Given the description of an element on the screen output the (x, y) to click on. 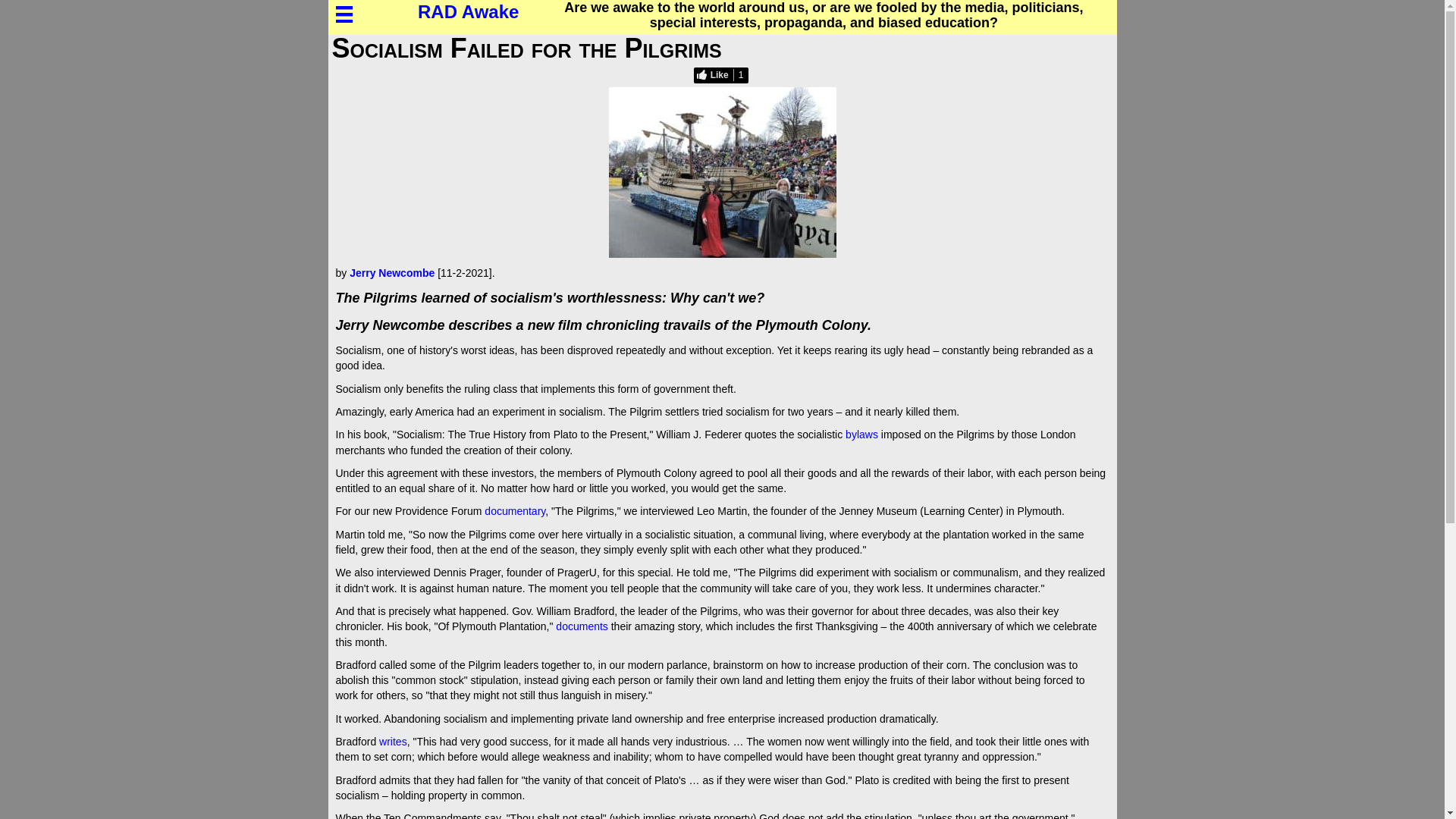
writes (392, 741)
bylaws (861, 434)
Jerry Newcombe (391, 272)
documentary (514, 510)
documents (581, 625)
RAD Awake (467, 14)
